Given the description of an element on the screen output the (x, y) to click on. 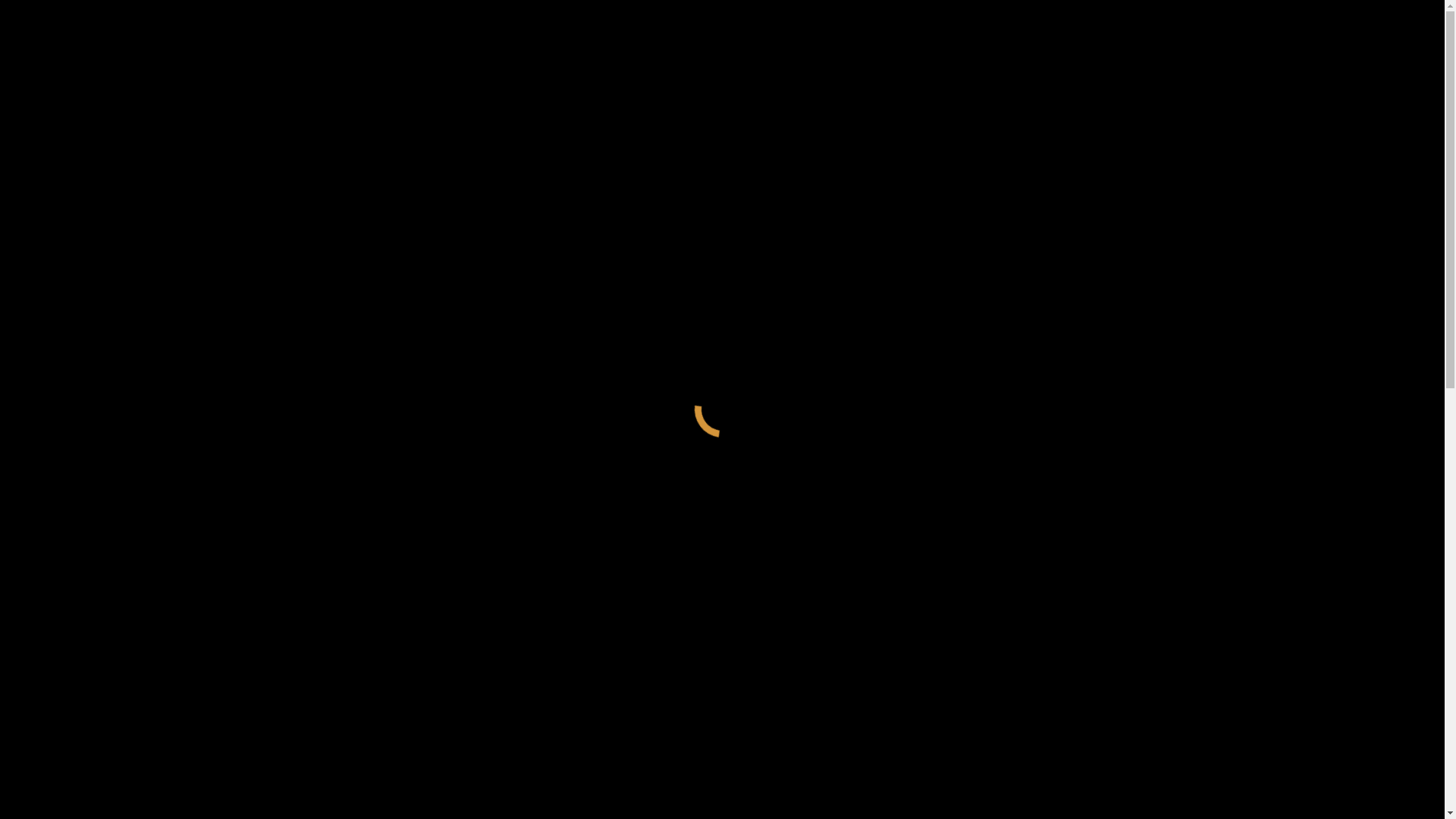
+375 29 279 00 80 Element type: text (146, 186)
+375 29 194 10 00 Element type: text (53, 12)
+375 29 279 00 80 Element type: text (146, 12)
+375 29 194 10 00 Element type: text (53, 186)
